Given the description of an element on the screen output the (x, y) to click on. 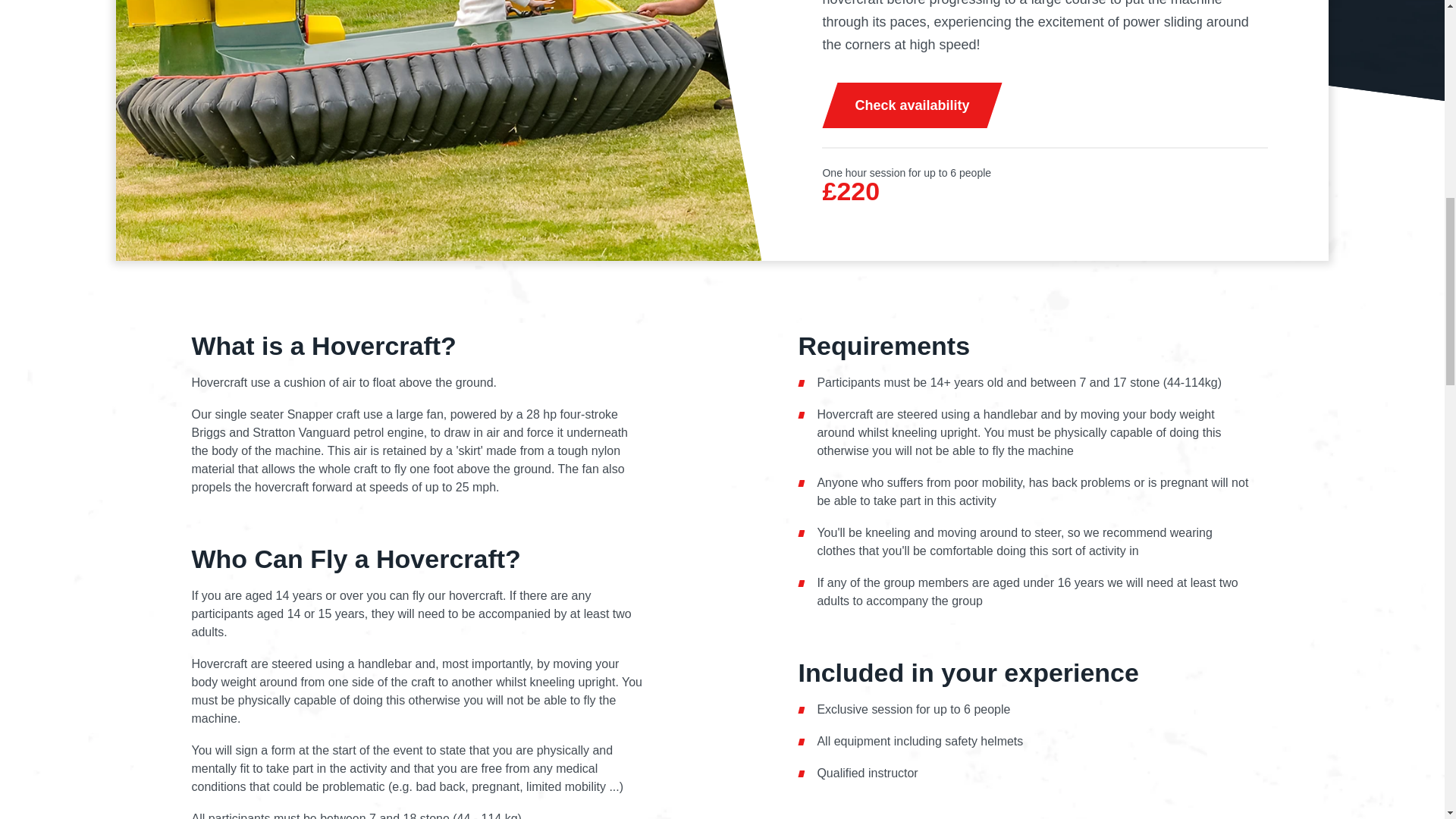
Check availability (911, 104)
Check availability (911, 104)
FareHarbor (1342, 64)
